Given the description of an element on the screen output the (x, y) to click on. 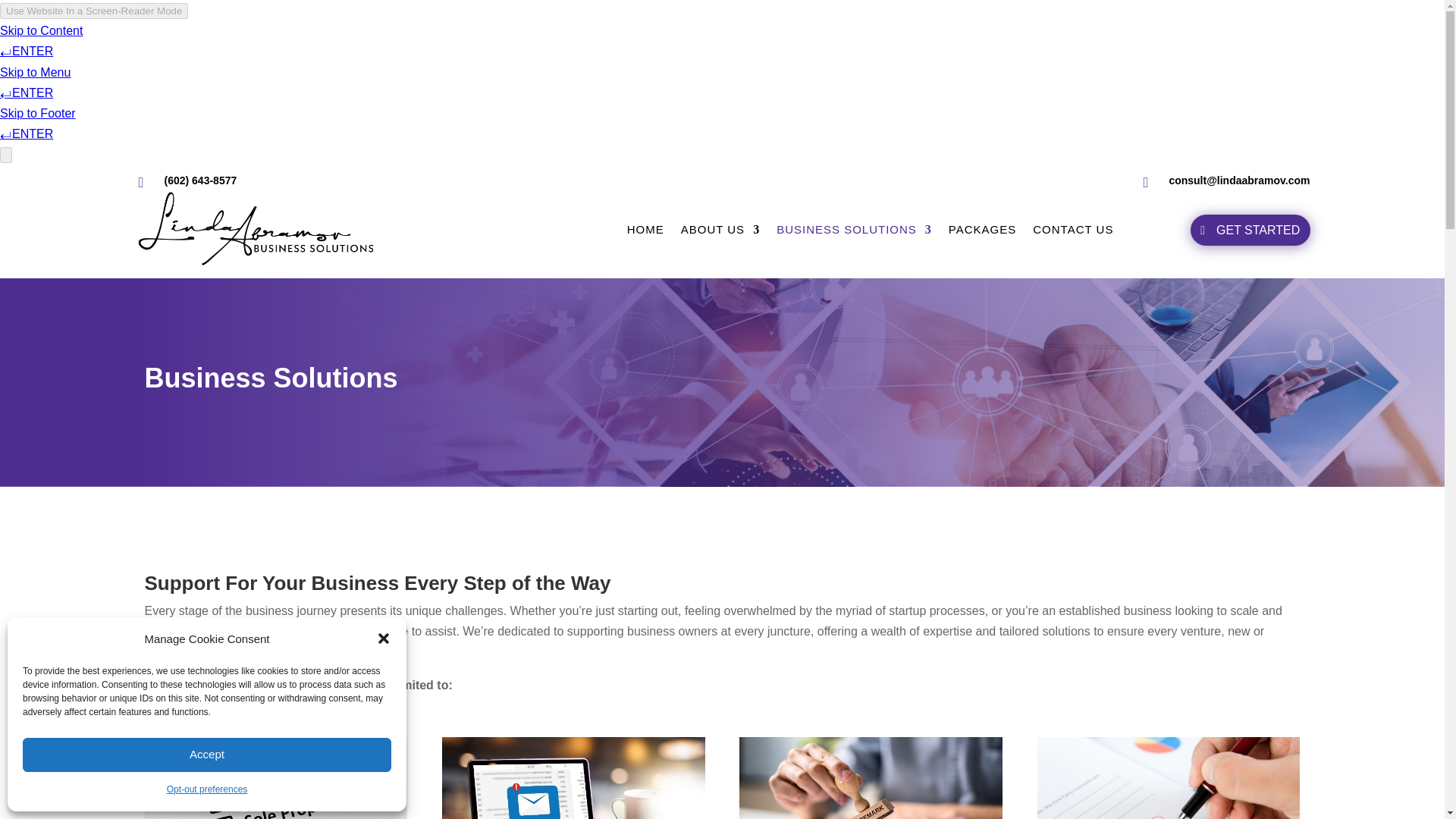
Accept (207, 754)
ABOUT US (720, 230)
Opt-out preferences (207, 789)
BUSINESS SOLUTIONS (853, 230)
